Given the description of an element on the screen output the (x, y) to click on. 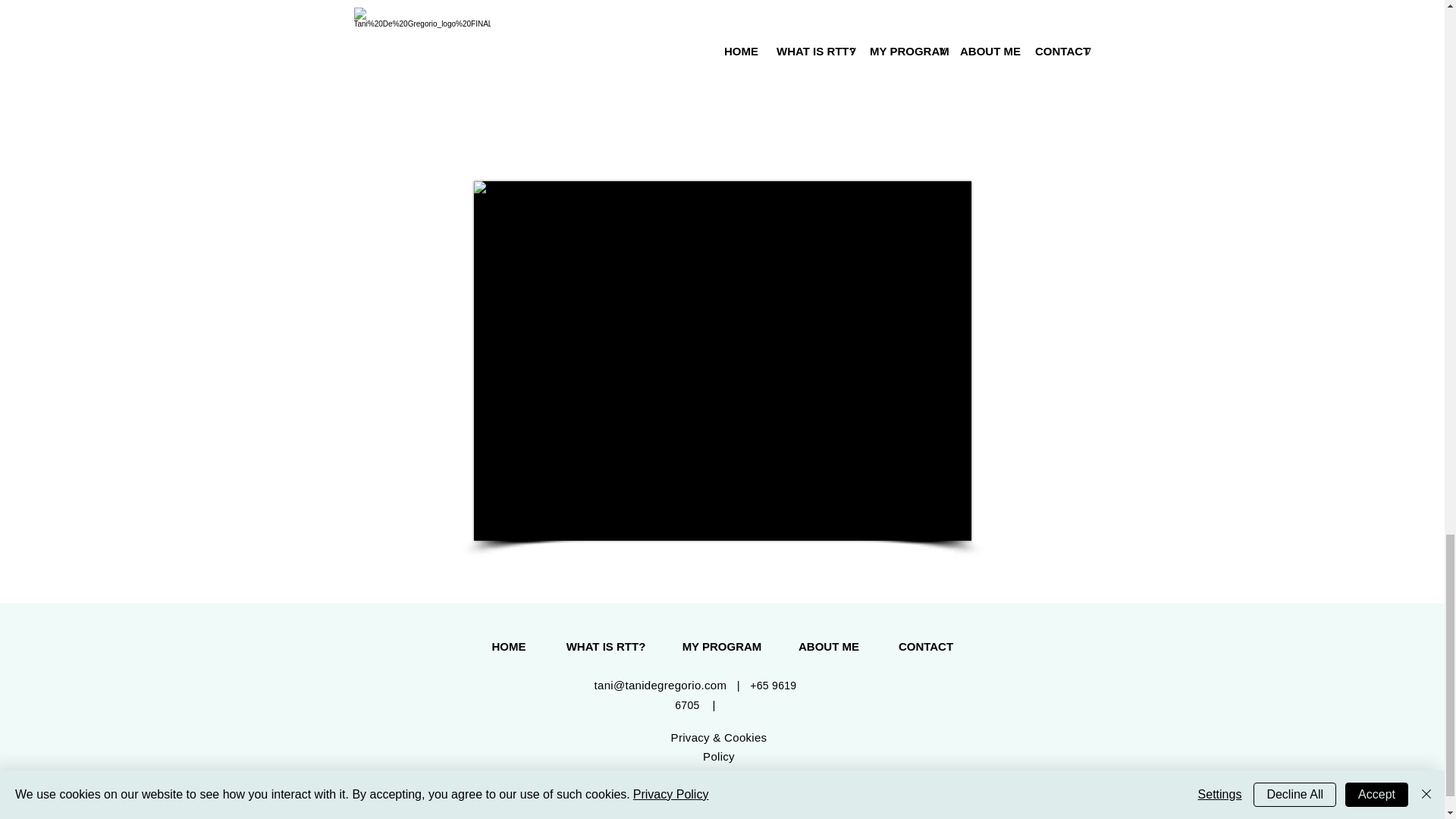
ABOUT ME (828, 646)
WHAT IS RTT? (606, 646)
CONTACT (924, 646)
MY PROGRAM (720, 646)
Disclaimer (720, 783)
HOME (508, 646)
